Given the description of an element on the screen output the (x, y) to click on. 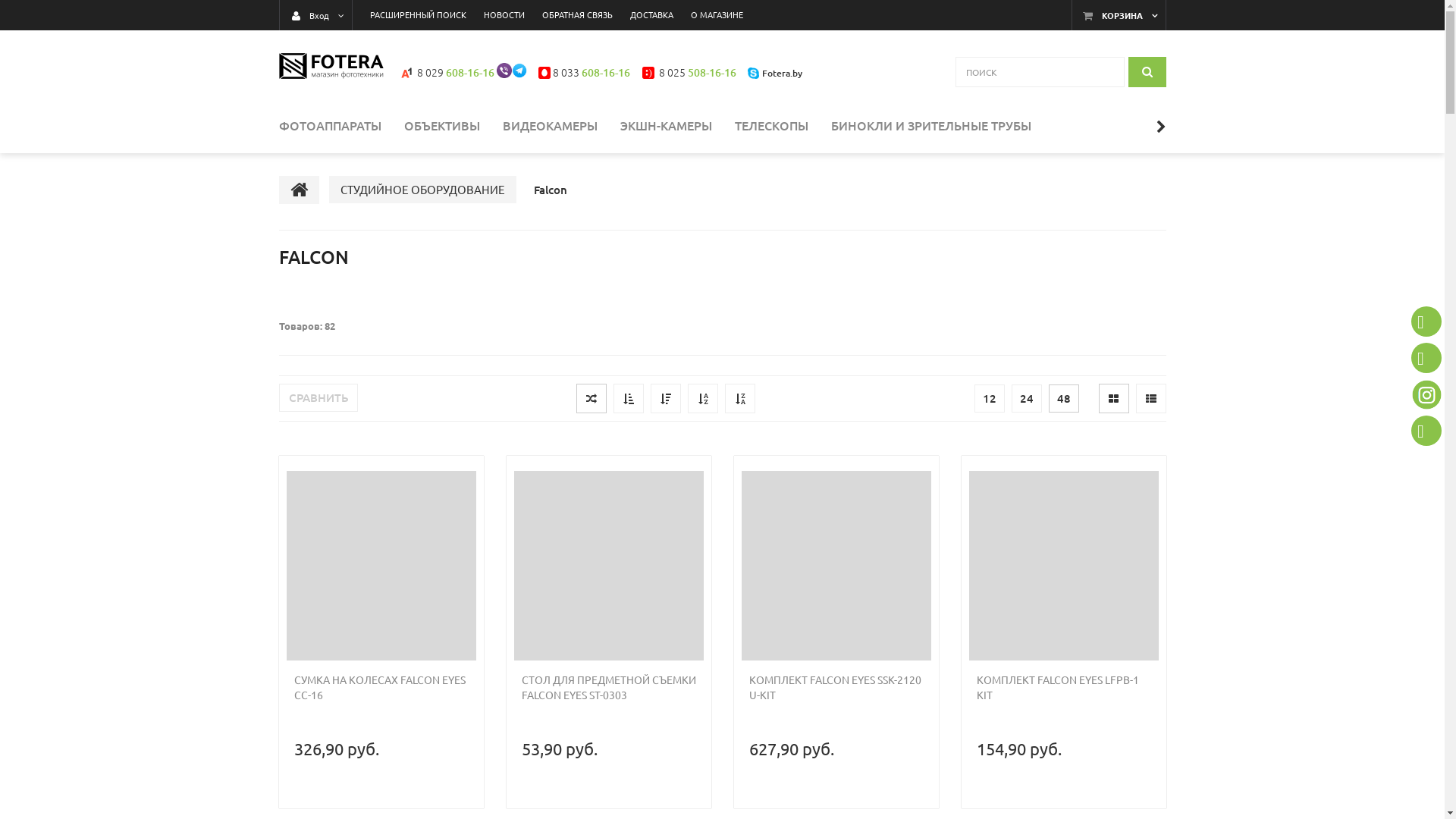
24 Element type: text (1026, 398)
Telegram Element type: hover (519, 70)
12 Element type: text (988, 398)
Viber Element type: hover (503, 70)
48 Element type: text (1063, 398)
Telegram Element type: hover (1426, 357)
508-16-16 Element type: text (711, 72)
608-16-16 Element type: text (469, 72)
Instagram Element type: hover (1426, 394)
Email This Element type: hover (1426, 430)
Viber Element type: hover (1426, 321)
608-16-16 Element type: text (605, 72)
